Given the description of an element on the screen output the (x, y) to click on. 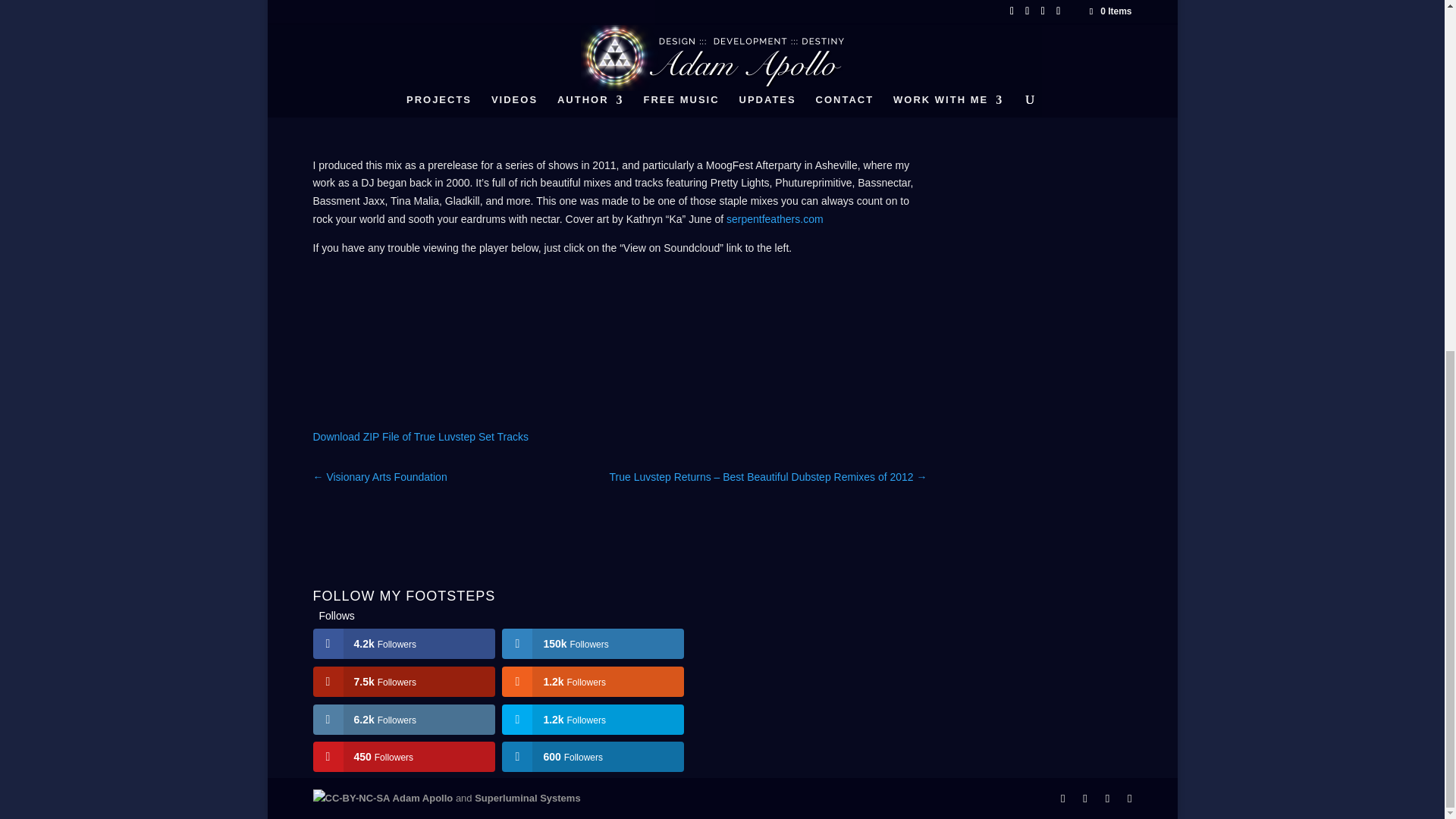
Download ZIP File of True Luvstep Set Tracks (420, 436)
serpentfeathers.com (775, 218)
Creative Commons License, Non-Commercial, Share Alike (351, 798)
